Given the description of an element on the screen output the (x, y) to click on. 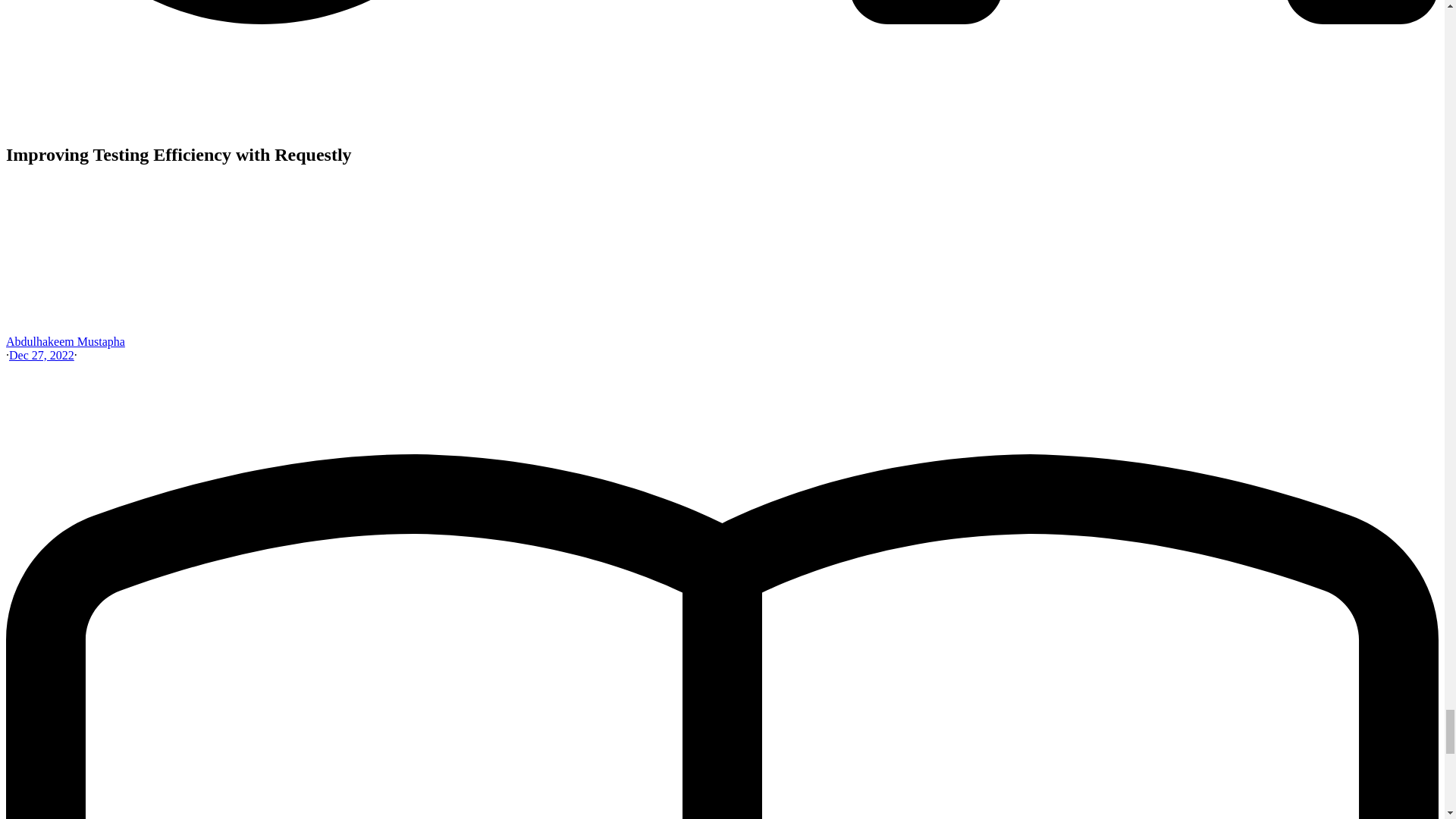
Abdulhakeem Mustapha (65, 341)
Dec 27, 2022 (41, 354)
